Given the description of an element on the screen output the (x, y) to click on. 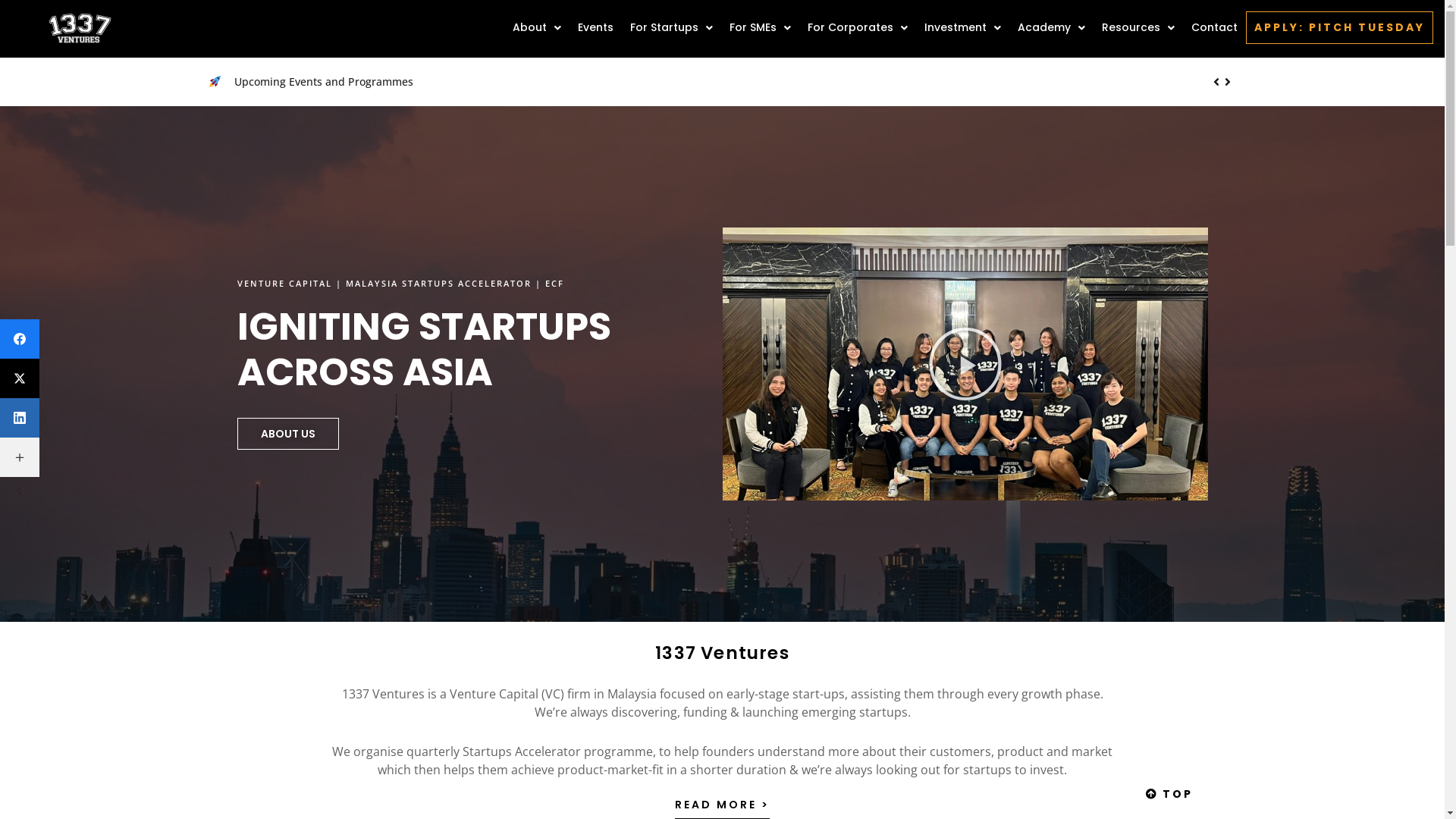
Resources Element type: text (1138, 27)
Contact Element type: text (1214, 27)
TOP Element type: text (1168, 793)
For Corporates Element type: text (857, 27)
cropped-1337-1.png Element type: hover (79, 28)
For Startups Element type: text (671, 27)
Events Element type: text (595, 27)
Academy Element type: text (1051, 27)
ABOUT US Element type: text (287, 433)
For SMEs Element type: text (760, 27)
APPLY: PITCH TUESDAY Element type: text (1339, 27)
Alpha Startups Pre-Accelerator Element type: text (313, 81)
Investment Element type: text (962, 27)
About Element type: text (536, 27)
